Given the description of an element on the screen output the (x, y) to click on. 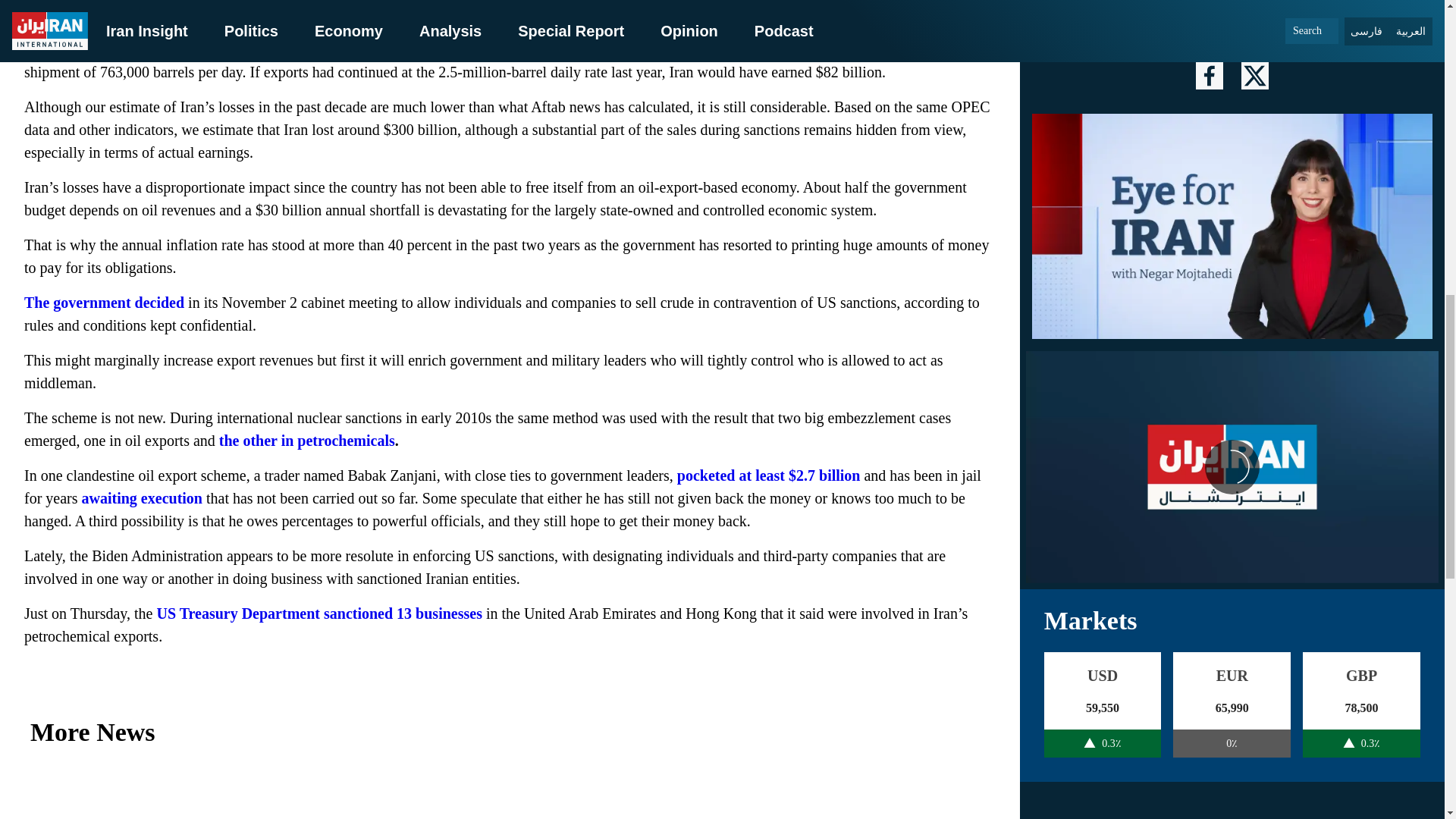
the other in petrochemicals (306, 440)
The government decided (104, 302)
More News (510, 732)
awaiting execution (141, 497)
US Treasury Department sanctioned 13 businesses (318, 613)
